Given the description of an element on the screen output the (x, y) to click on. 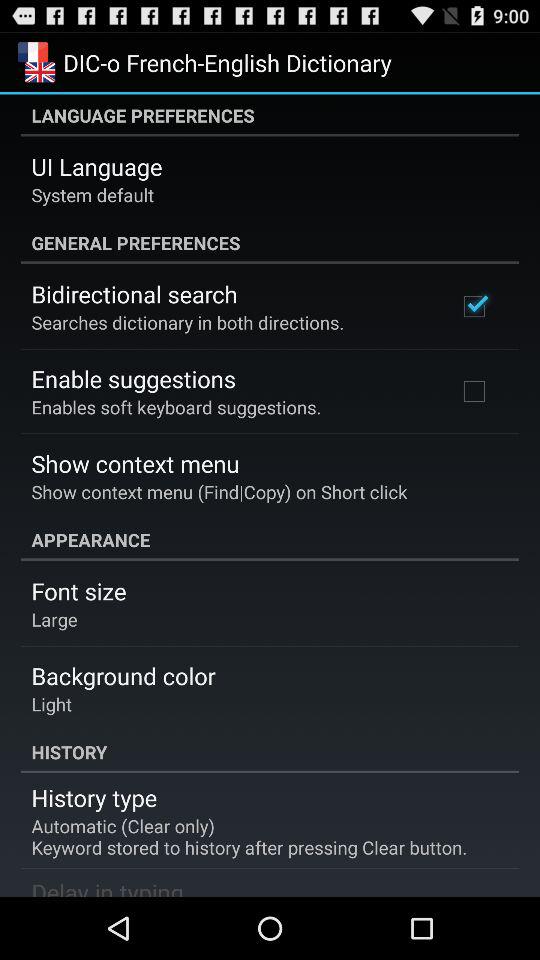
click on the selected box to the right of bidirectional search text (474, 307)
